Given the description of an element on the screen output the (x, y) to click on. 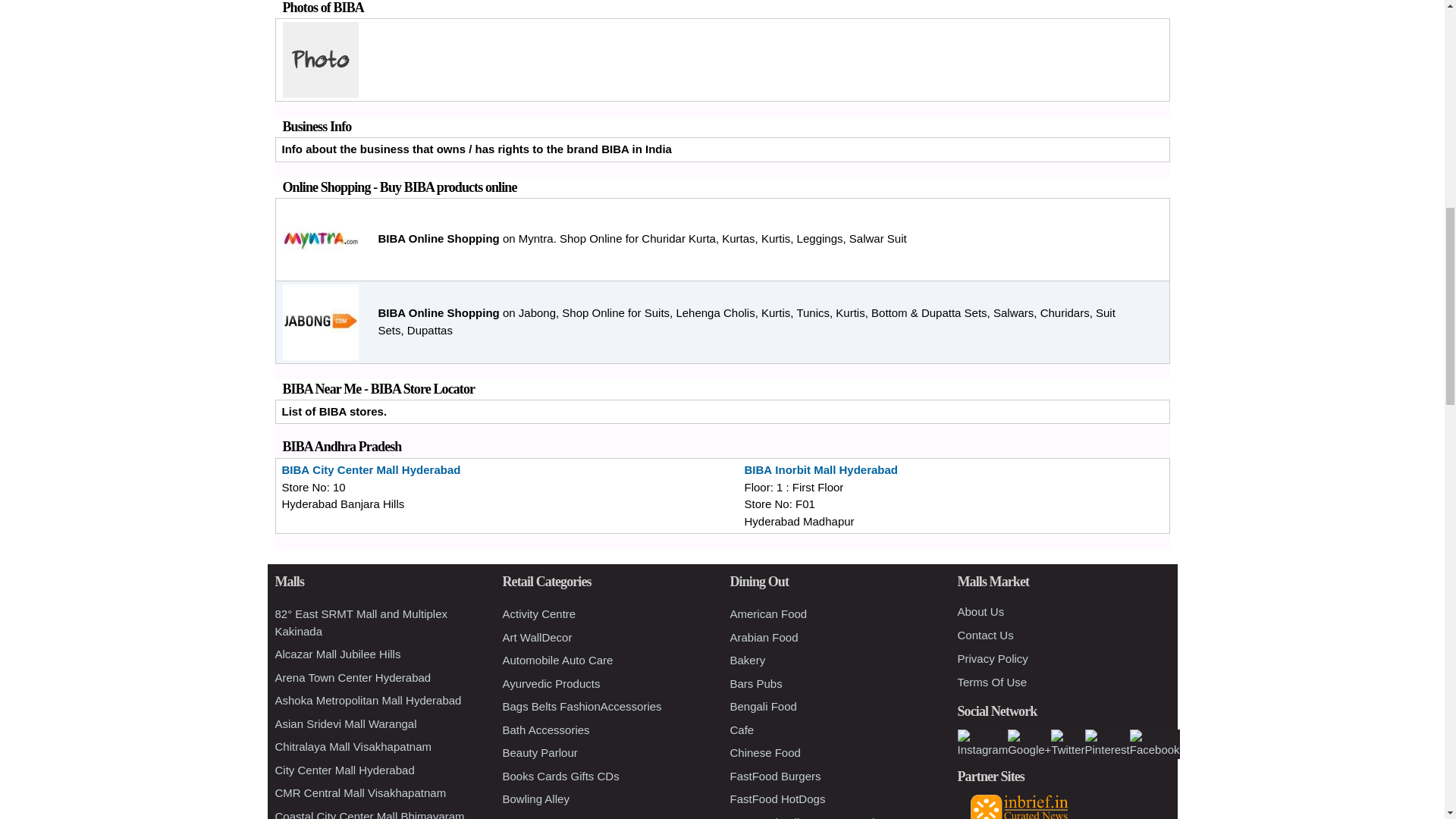
BIBA City Center Mall Hyderabad (371, 469)
Arena Town Center Hyderabad (352, 676)
Alcazar Mall Jubilee Hills (337, 653)
BIBA Inorbit Mall Hyderabad (821, 469)
